Given the description of an element on the screen output the (x, y) to click on. 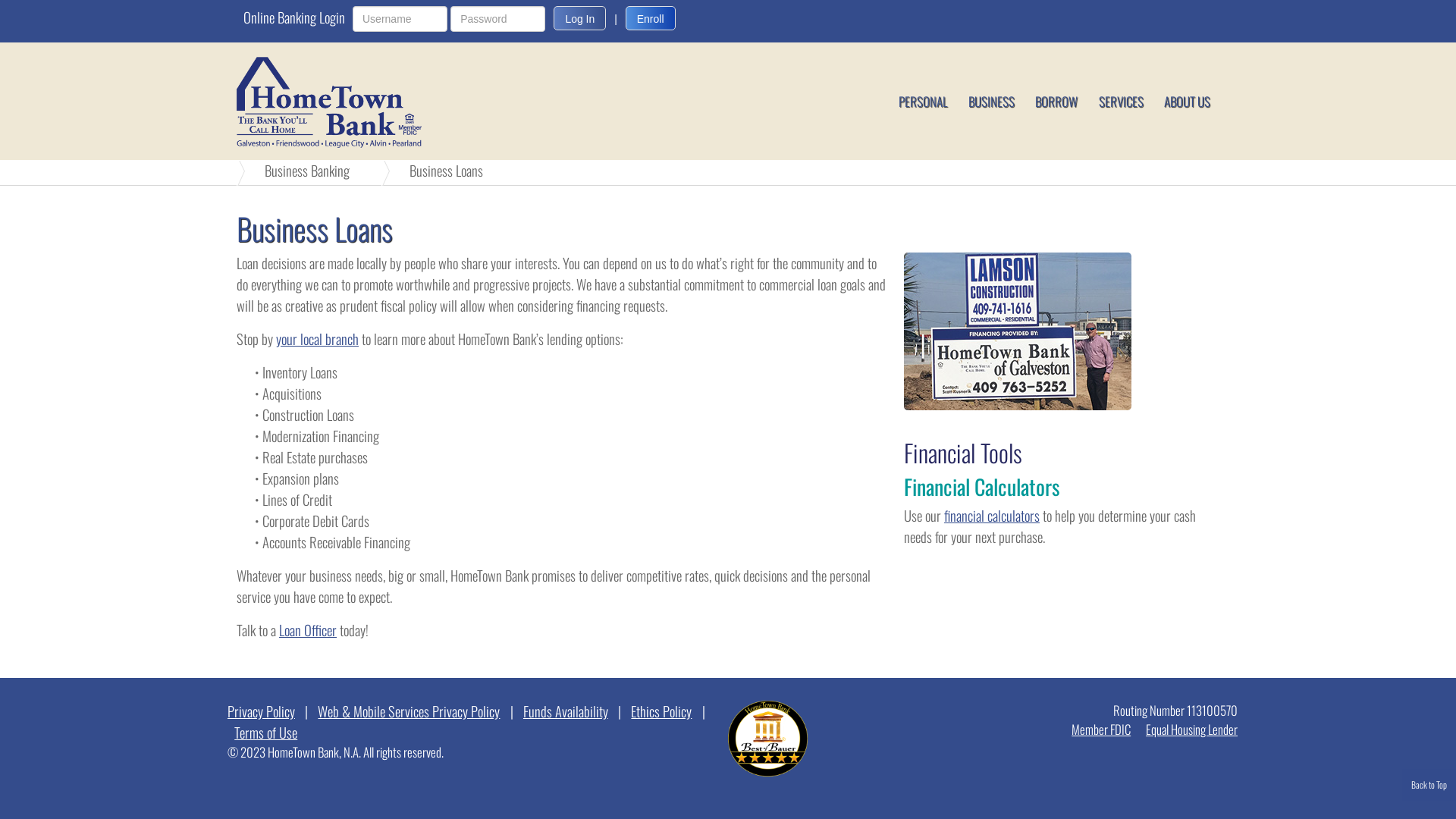
BORROW Element type: text (1056, 101)
your local branch Element type: text (317, 338)
Funds Availability Element type: text (565, 710)
Web & Mobile Services Privacy Policy Element type: text (408, 710)
financial calculators Element type: text (991, 515)
BUSINESS Element type: text (991, 101)
SERVICES Element type: text (1120, 101)
Terms of Use Element type: text (265, 731)
Loan Officer Element type: text (307, 629)
ABOUT US Element type: text (1187, 101)
Equal Housing Lender Element type: text (1188, 728)
PERSONAL Element type: text (923, 101)
HomeTown Bank, N.A. Element type: text (359, 101)
Ethics Policy Element type: text (661, 710)
Privacy Policy Element type: text (264, 710)
Member FDIC Element type: text (1101, 728)
